Given the description of an element on the screen output the (x, y) to click on. 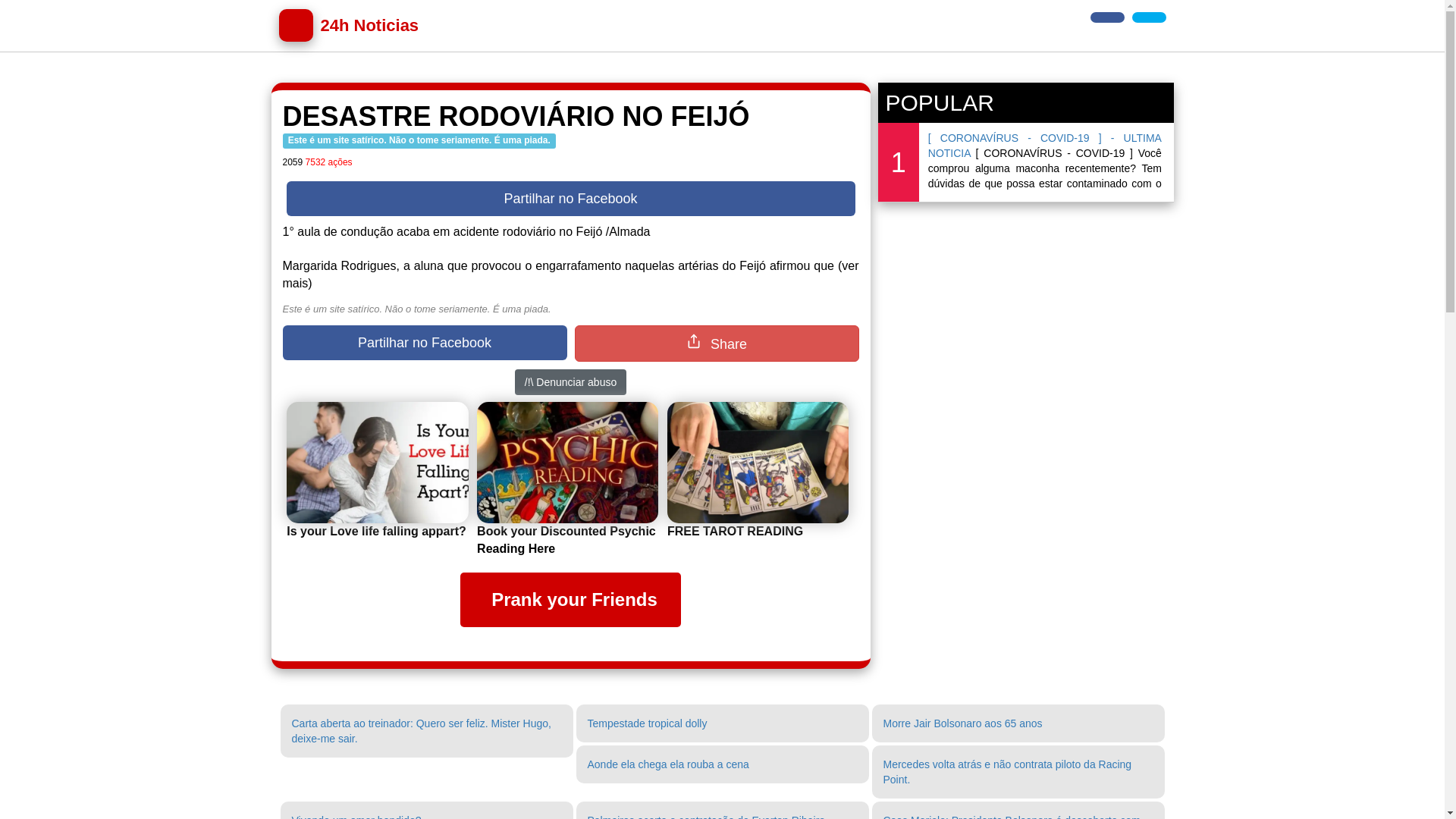
Partilhar no Facebook Element type: text (424, 342)
24h Noticias Element type: text (349, 25)
Morre Jair Bolsonaro aos 65 anos Element type: text (961, 723)
/!\ Denunciar abuso Element type: text (570, 382)
FREE TAROT READING Element type: text (735, 530)
Prank your Friends Element type: text (570, 599)
Partilhar no Facebook Element type: text (570, 198)
Share Element type: text (716, 343)
Book your Discounted Psychic Reading Here Element type: text (565, 539)
Aonde ela chega ela rouba a cena Element type: text (667, 764)
Is your Love life falling appart? Element type: text (375, 530)
Tempestade tropical dolly Element type: text (646, 723)
